Given the description of an element on the screen output the (x, y) to click on. 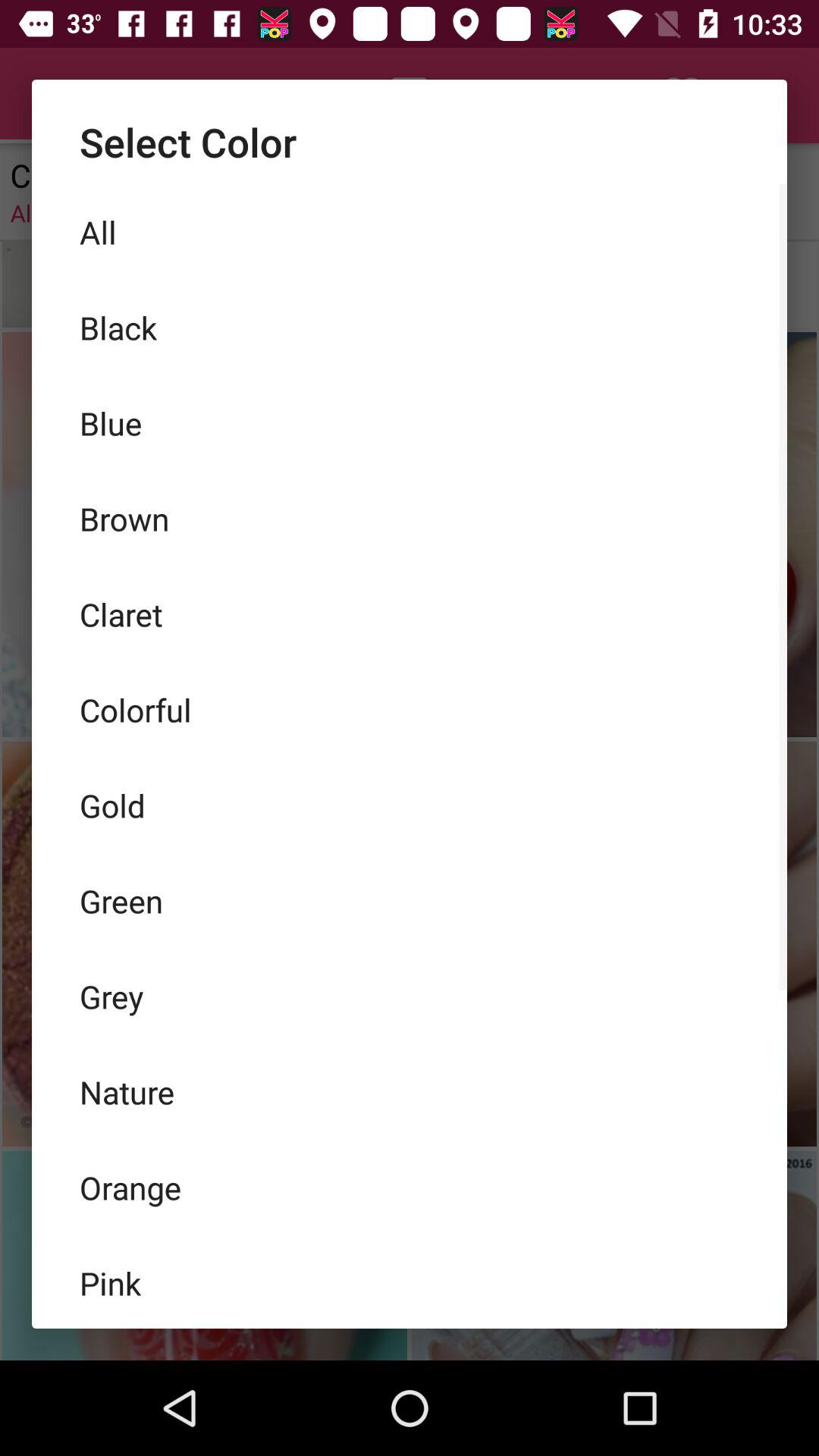
jump until the colorful item (409, 709)
